Given the description of an element on the screen output the (x, y) to click on. 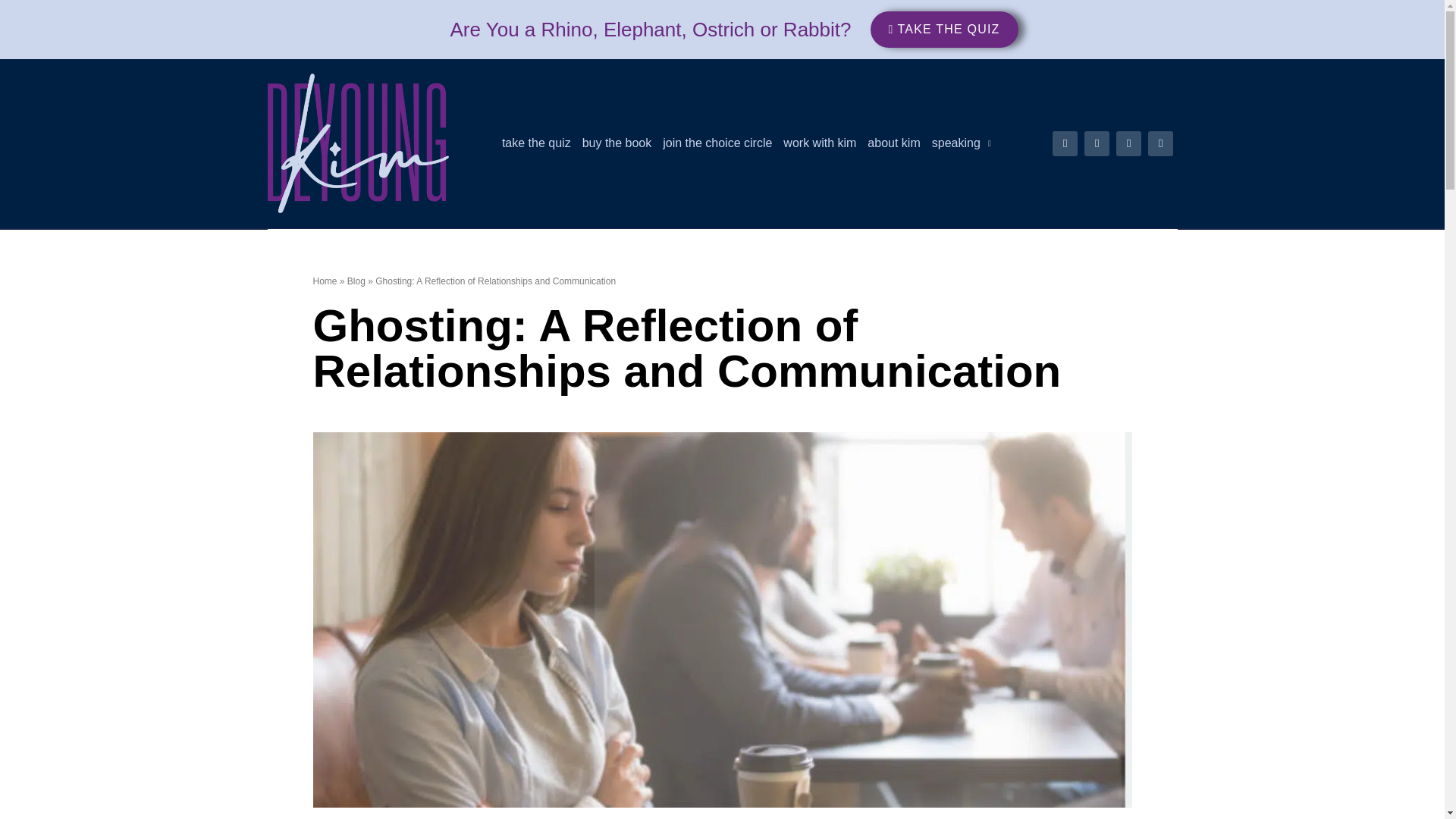
about kim (893, 142)
speaking (961, 142)
Home (324, 281)
work with kim (819, 142)
Book (617, 142)
join the choice circle (716, 142)
Work with Kim (819, 142)
buy the book (617, 142)
take the quiz (536, 142)
Blog (356, 281)
